Given the description of an element on the screen output the (x, y) to click on. 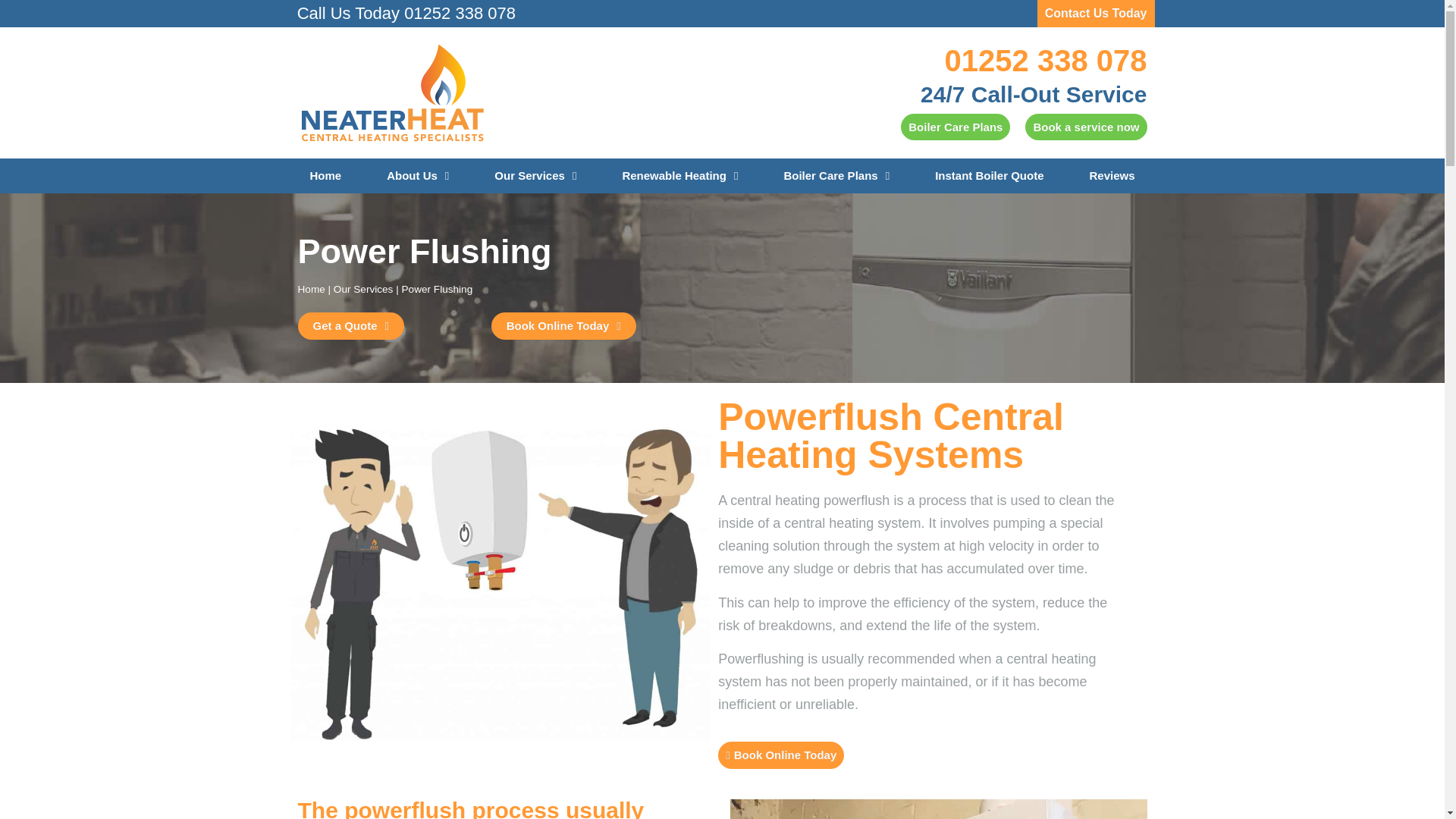
Call Us Today 01252 338 078 (406, 13)
Boiler Care Plans (955, 126)
01252 338 078 (1045, 60)
Contact Us Today (1095, 13)
